Given the description of an element on the screen output the (x, y) to click on. 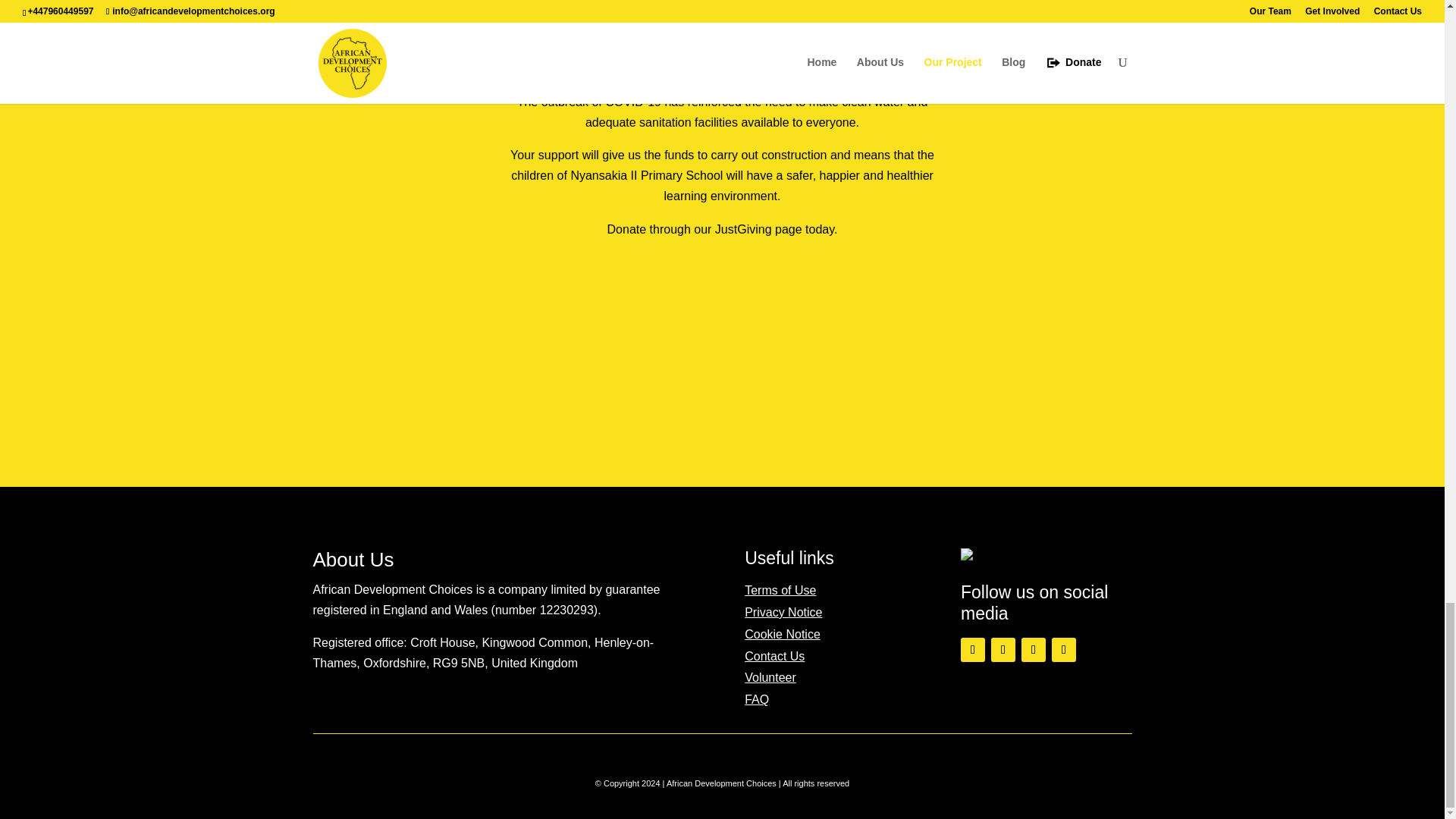
cropped-adc-logo.png (989, 553)
Cookie Notice (782, 634)
Follow on Facebook (972, 649)
Privacy Notice (783, 612)
Follow on X (1002, 649)
Terms of Use (779, 590)
FAQ (756, 698)
Contact Us (774, 656)
Volunteer (770, 676)
Volunteer (770, 676)
